Given the description of an element on the screen output the (x, y) to click on. 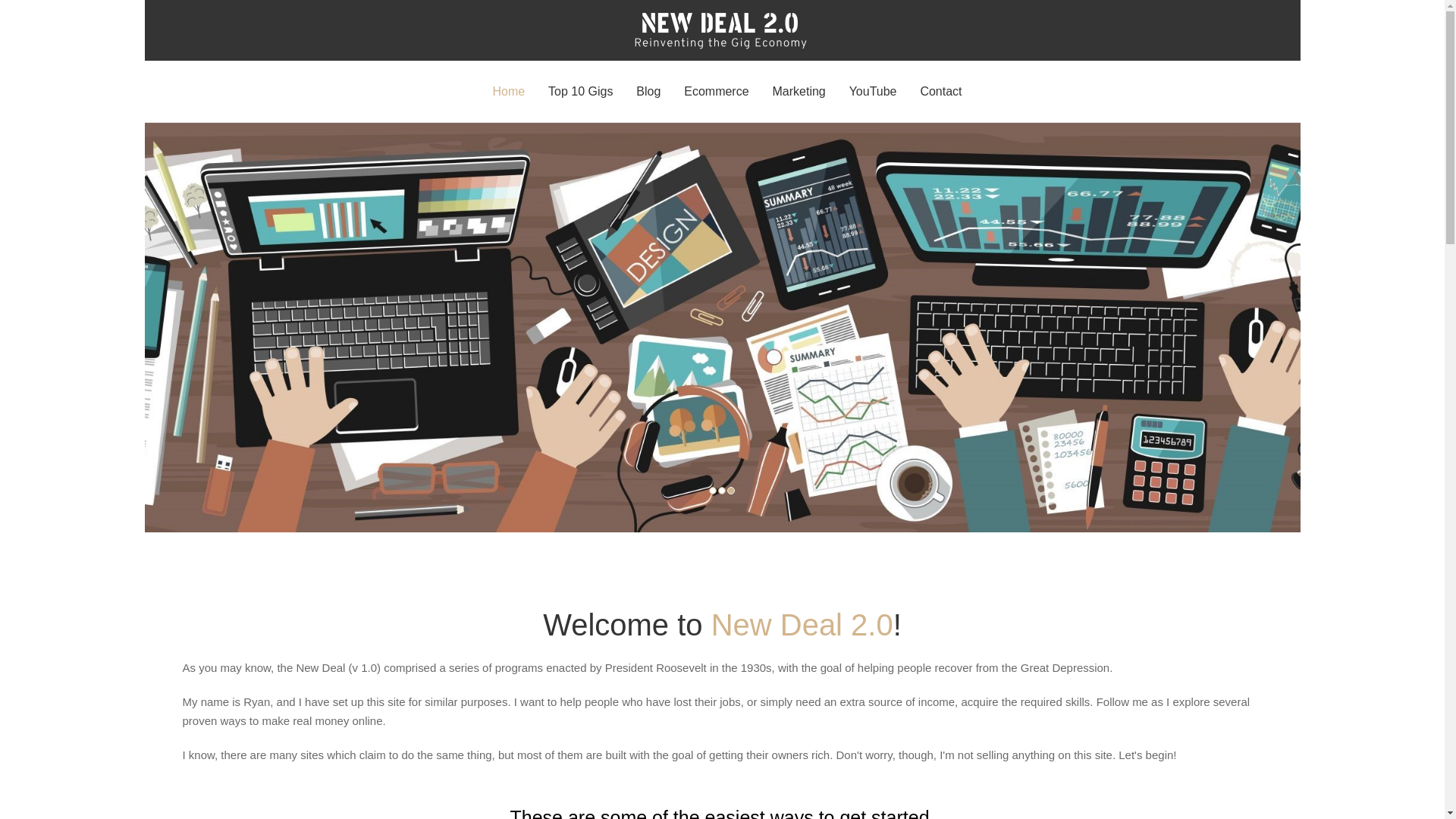
Ecommerce (716, 91)
2 (721, 490)
1 (711, 490)
3 (729, 490)
Top 10 Gigs (579, 91)
Marketing (798, 91)
